Given the description of an element on the screen output the (x, y) to click on. 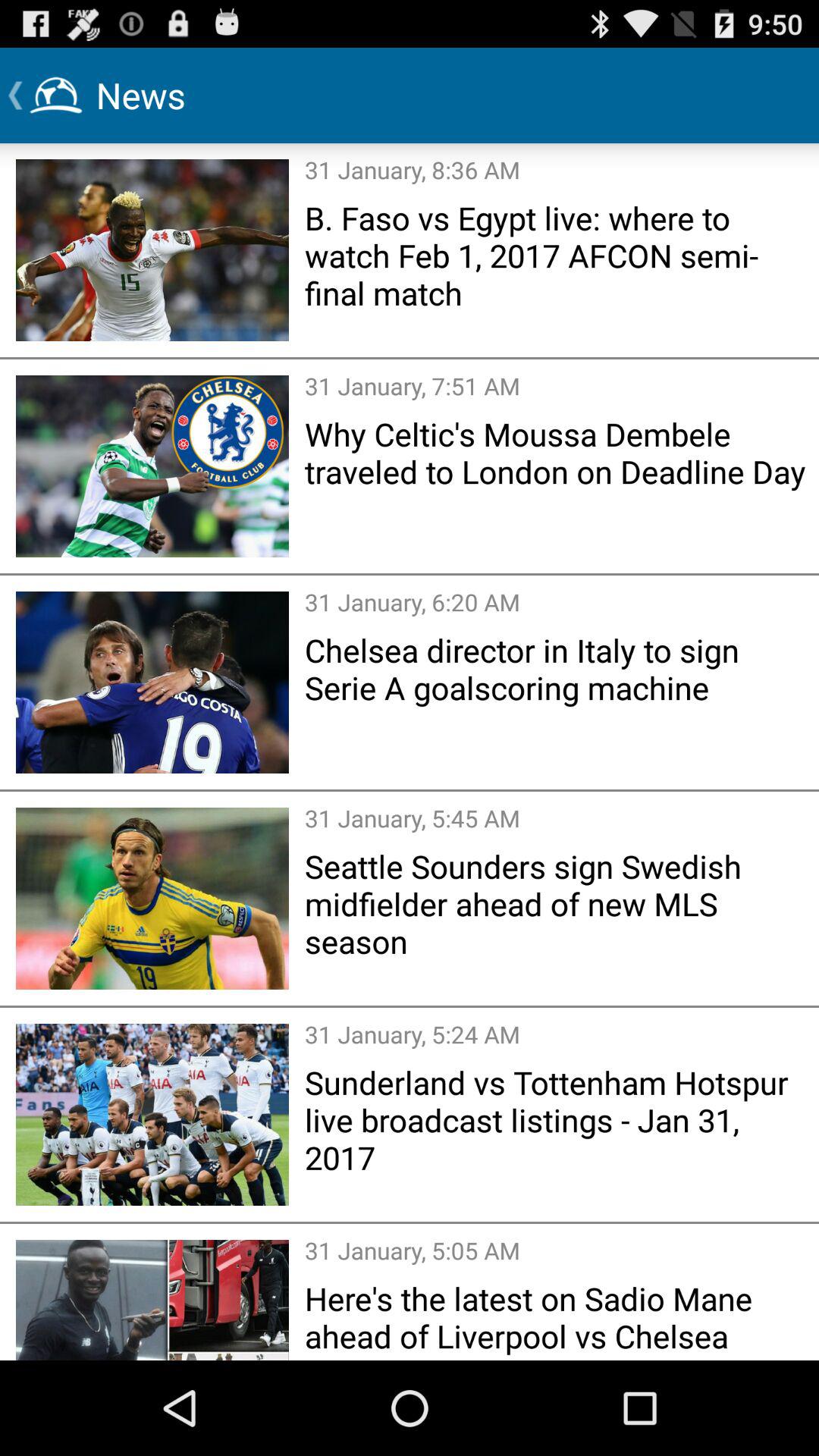
jump until the why celtic s (556, 452)
